Given the description of an element on the screen output the (x, y) to click on. 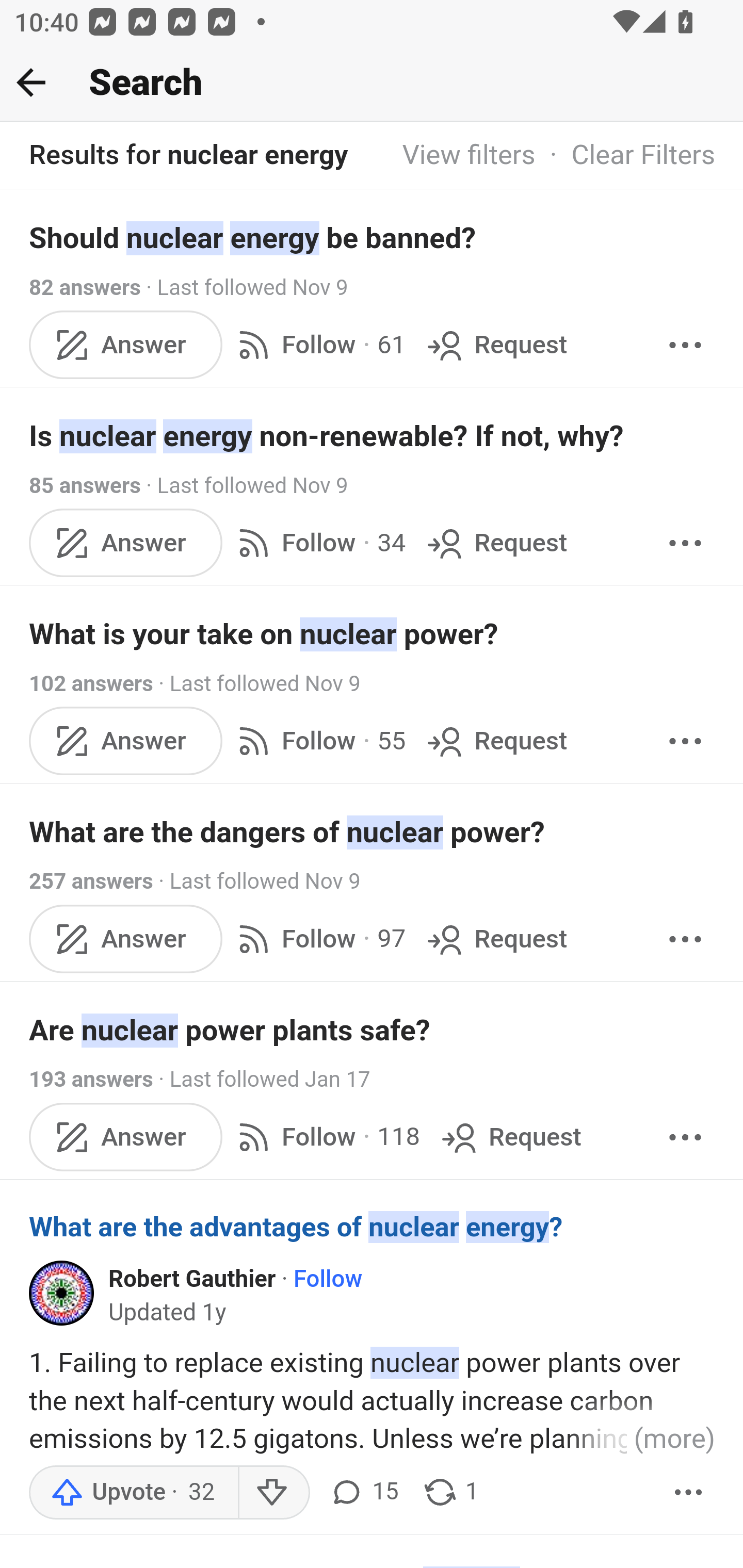
Back Search (371, 82)
Back (30, 82)
View filters (468, 155)
· Clear Filters · Clear Filters (625, 155)
Should nuclear energy be banned? (372, 237)
82 answers 82  answers (84, 287)
Answer (125, 343)
Follow · 61 (317, 343)
Request (495, 343)
More (684, 343)
Is nuclear energy non-renewable? If not, why? (372, 436)
85 answers 85  answers (84, 484)
Answer (125, 543)
Follow · 34 (317, 543)
Request (495, 543)
More (684, 543)
What is your take on nuclear power? (372, 634)
102 answers 102  answers (90, 684)
Answer (125, 741)
Follow · 55 (317, 741)
Request (495, 741)
More (684, 741)
What are the dangers of nuclear power? (372, 832)
257 answers 257  answers (90, 881)
Answer (125, 939)
Follow · 97 (317, 939)
Request (495, 939)
More (684, 939)
Are nuclear power plants safe? (372, 1029)
193 answers 193  answers (90, 1079)
Answer (125, 1137)
Follow · 118 (324, 1137)
Request (509, 1137)
More (684, 1137)
What are the advantages of nuclear energy? (372, 1226)
Profile photo for Robert Gauthier (61, 1293)
Robert Gauthier (192, 1279)
Follow (327, 1279)
Updated 1y Updated  1 y (167, 1313)
Upvote (133, 1492)
Downvote (273, 1492)
15 comments (363, 1492)
1 share (449, 1492)
More (688, 1492)
